Given the description of an element on the screen output the (x, y) to click on. 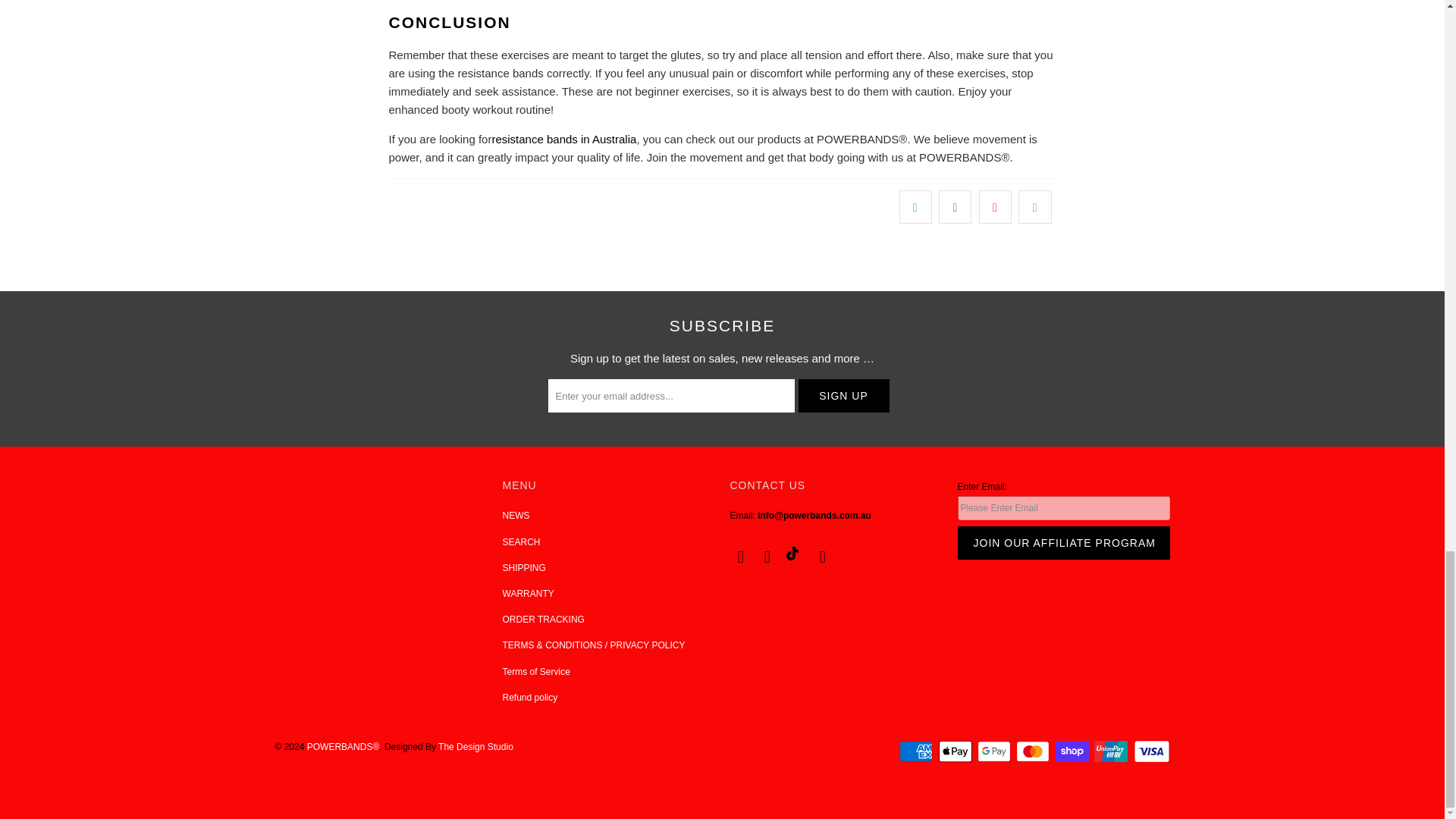
American Express (917, 751)
Join Our Affiliate Program (1062, 542)
Mastercard (1034, 751)
Sign Up (842, 395)
Share this on Pinterest (994, 206)
Visa (1150, 751)
Share this on Twitter (915, 206)
Apple Pay (957, 751)
Google Pay (994, 751)
Shop Pay (1073, 751)
